Given the description of an element on the screen output the (x, y) to click on. 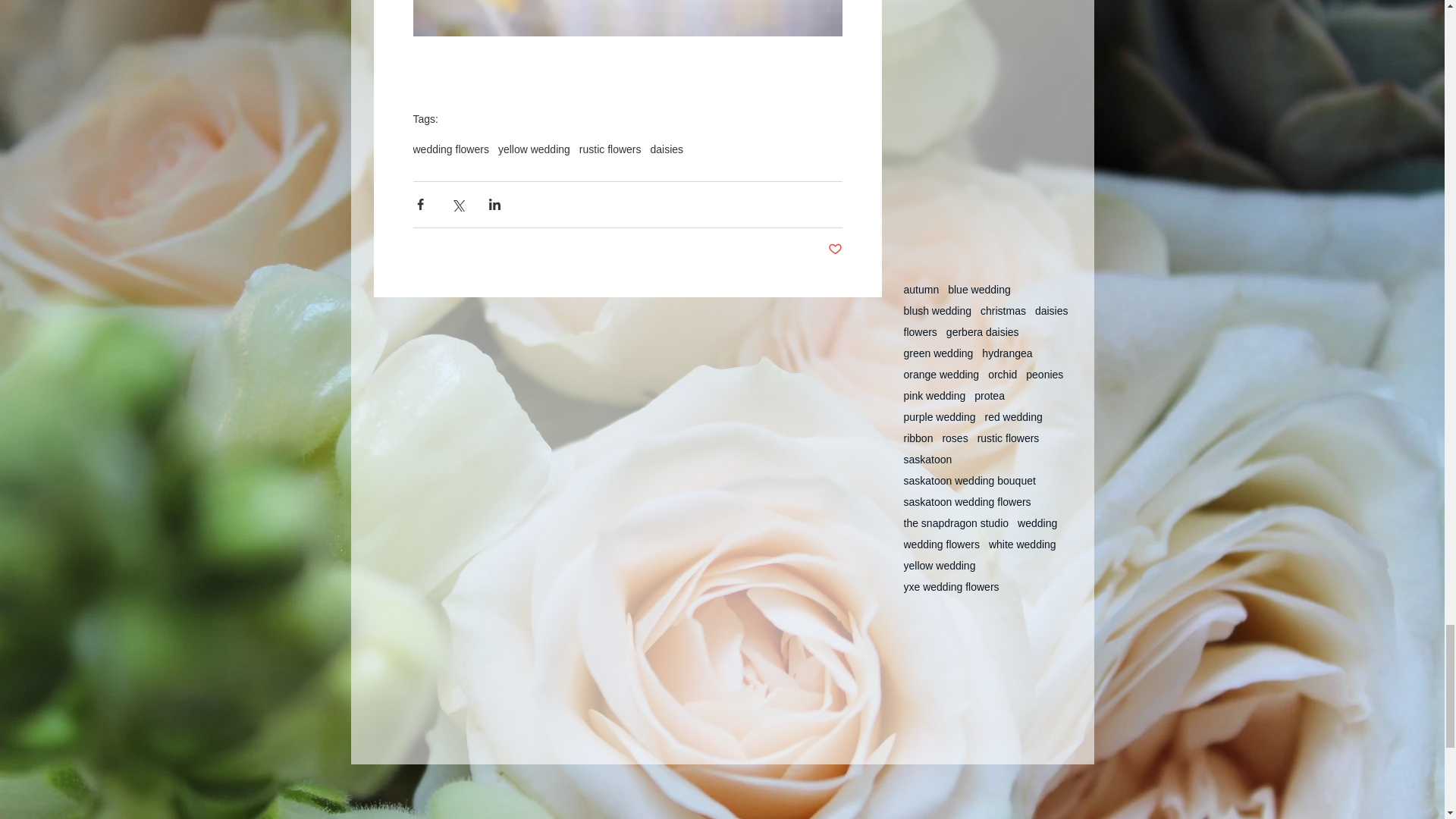
rustic flowers (610, 149)
wedding flowers (449, 149)
autumn (921, 289)
blue wedding (978, 289)
yellow wedding (533, 149)
daisies (667, 149)
Post not marked as liked (835, 249)
